Given the description of an element on the screen output the (x, y) to click on. 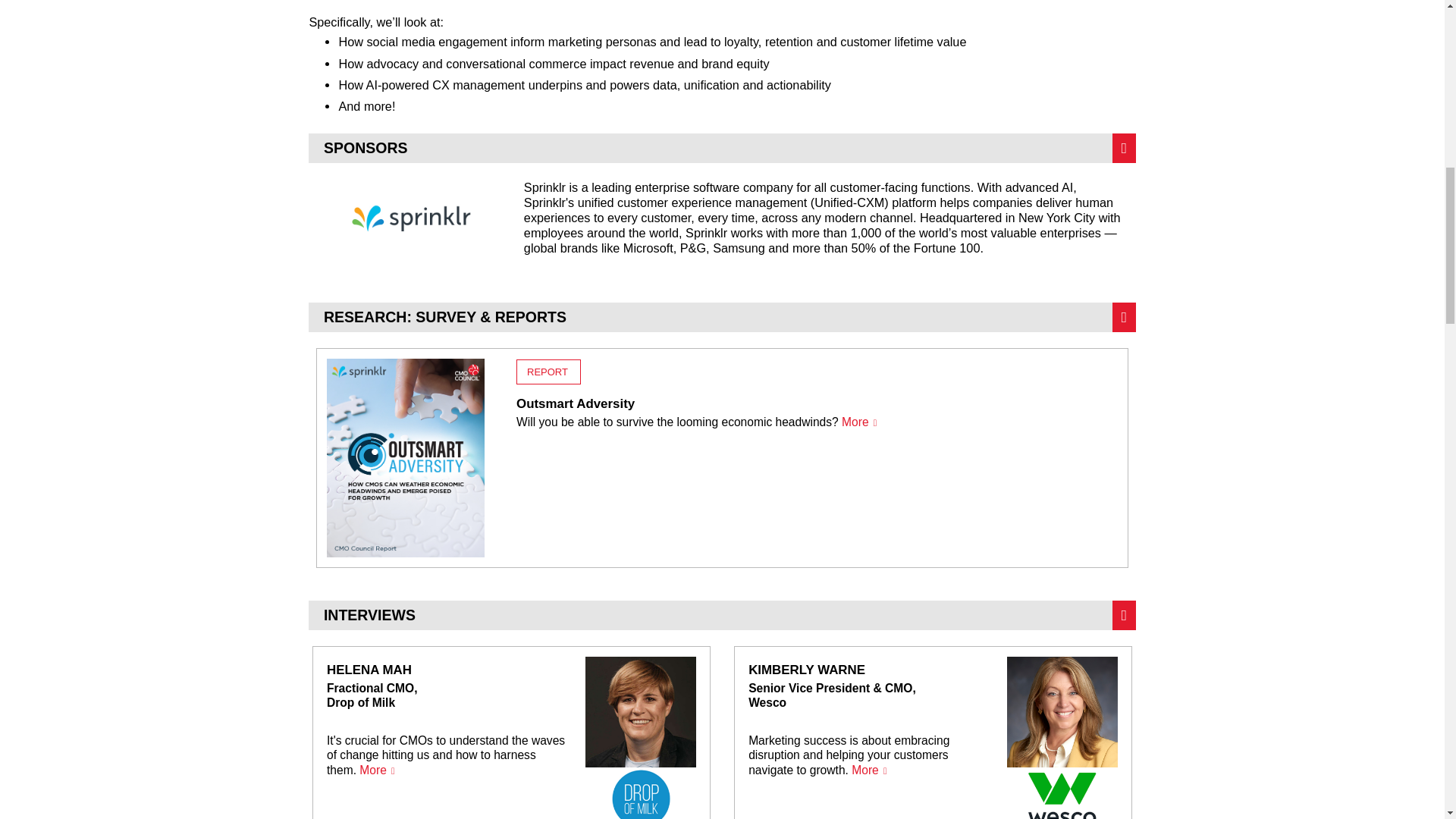
Get to Know KIMBERLY WARNE (933, 733)
Outsmart Adversity (817, 396)
Sprinklr (411, 217)
Get to Know HELENA MAH (511, 733)
